Given the description of an element on the screen output the (x, y) to click on. 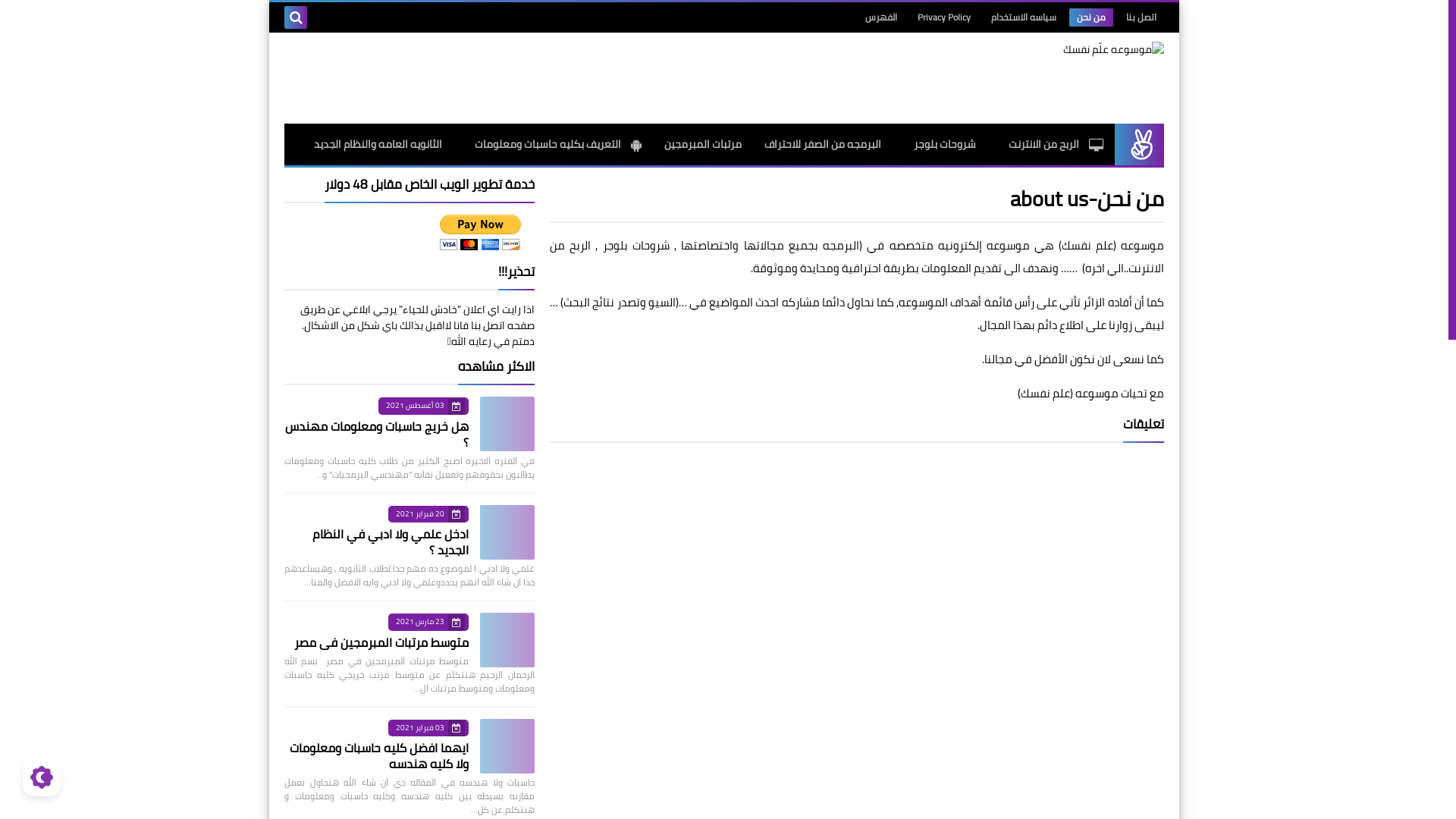
PayPal - The safer, easier way to pay online! Element type: hover (479, 232)
Privacy Policy Element type: text (944, 17)
